Given the description of an element on the screen output the (x, y) to click on. 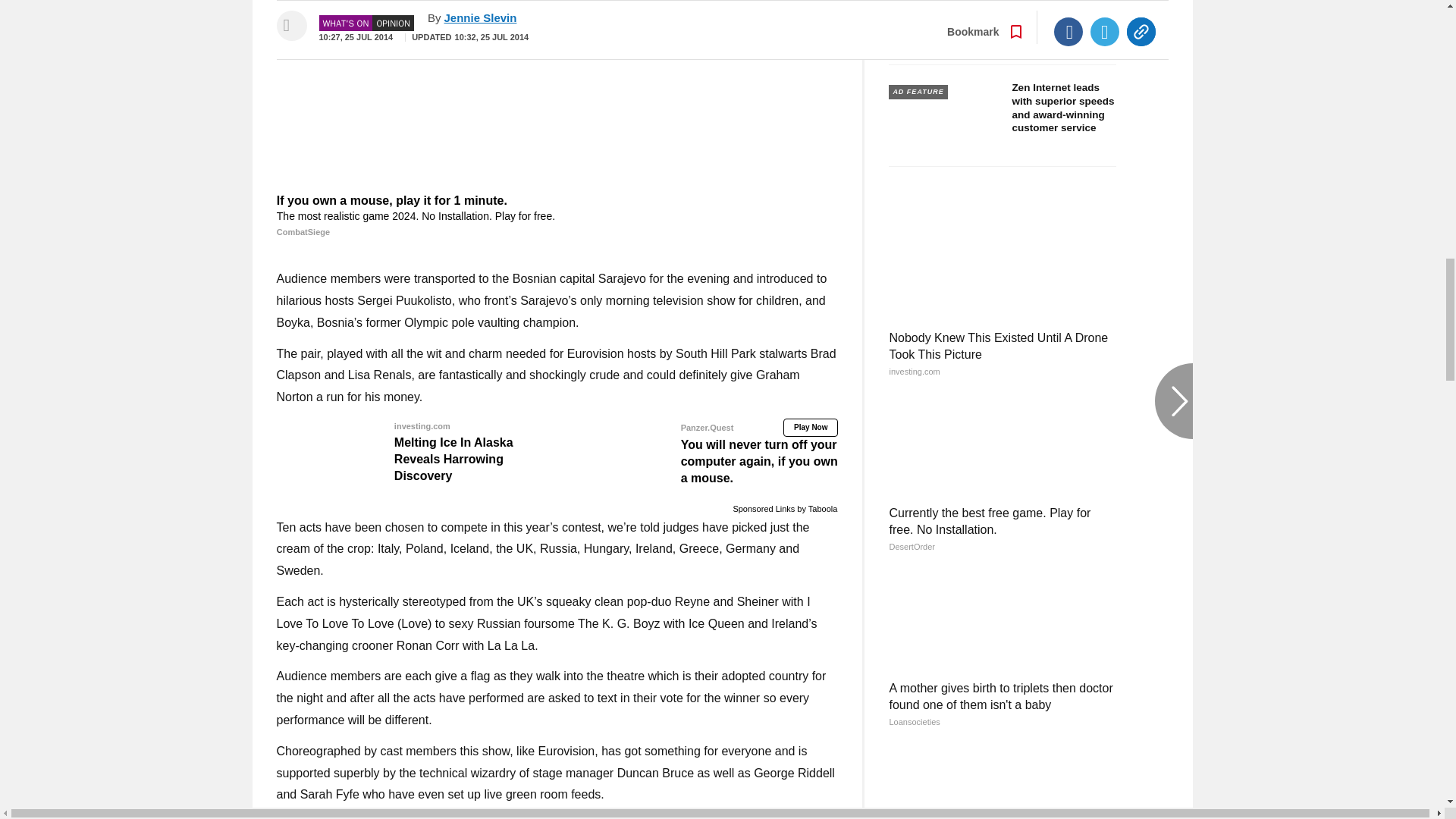
If you own a mouse, play it for 1 minute. (557, 216)
Melting Ice In Alaska Reveals Harrowing Discovery (413, 450)
If you own a mouse, play it for 1 minute. (557, 94)
